Given the description of an element on the screen output the (x, y) to click on. 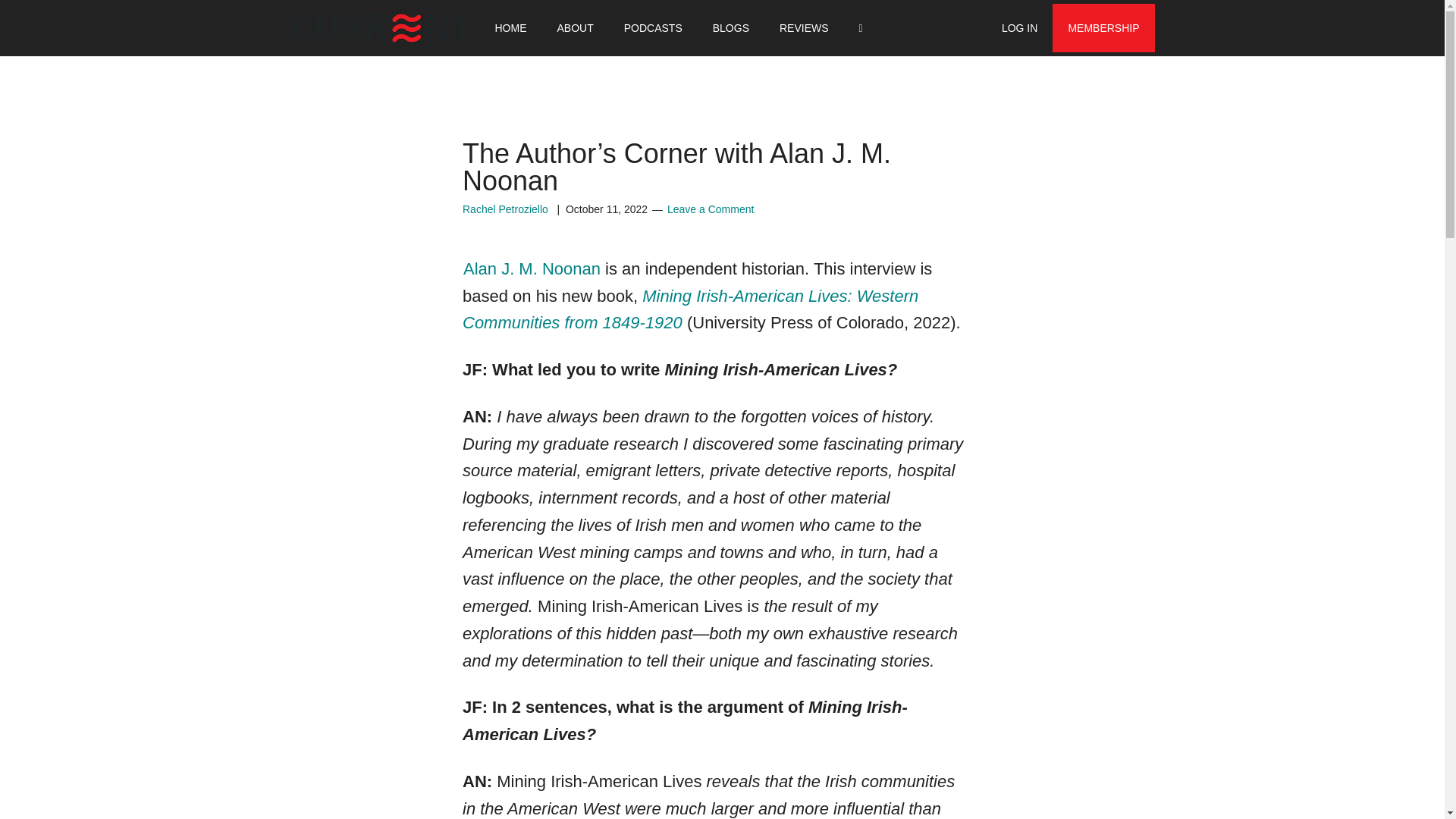
Rachel Petroziello (505, 209)
ABOUT (574, 28)
HOME (510, 28)
LOG IN (1019, 28)
PODCASTS (652, 28)
REVIEWS (804, 28)
VITA (567, 28)
SPEAKING (705, 28)
ABOUT JOHN (491, 28)
Alan J. M. Noonan (531, 268)
Leave a Comment (710, 209)
WAY OF IMPROVEMENT (365, 28)
MEMBERSHIP (1103, 28)
